Given the description of an element on the screen output the (x, y) to click on. 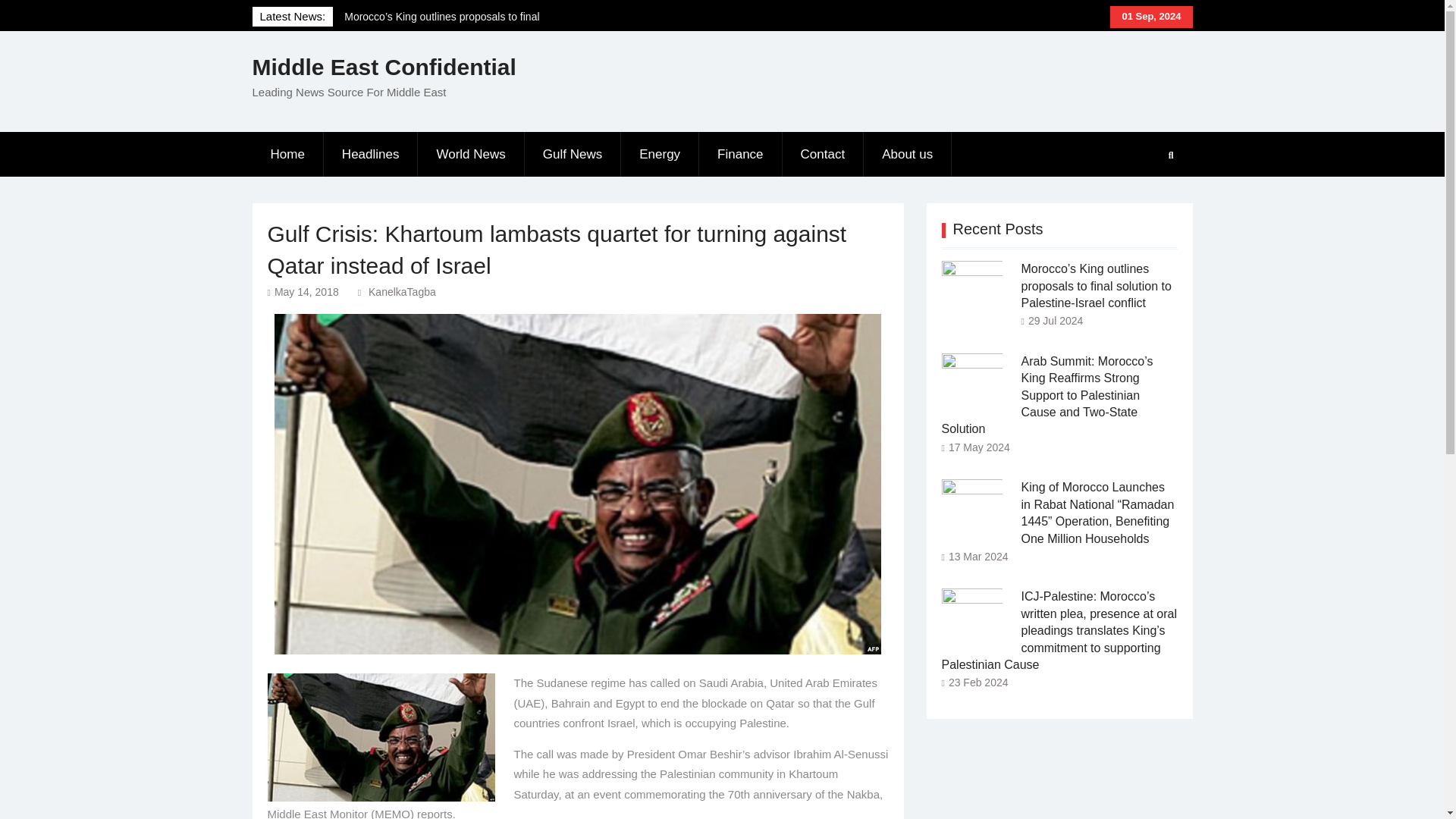
World News (470, 154)
Contact (823, 154)
Middle East Confidential (383, 66)
Headlines (371, 154)
Finance (739, 154)
KanelkaTagba (401, 291)
About us (907, 154)
Energy (659, 154)
May 14, 2018 (307, 291)
Gulf News (572, 154)
